Given the description of an element on the screen output the (x, y) to click on. 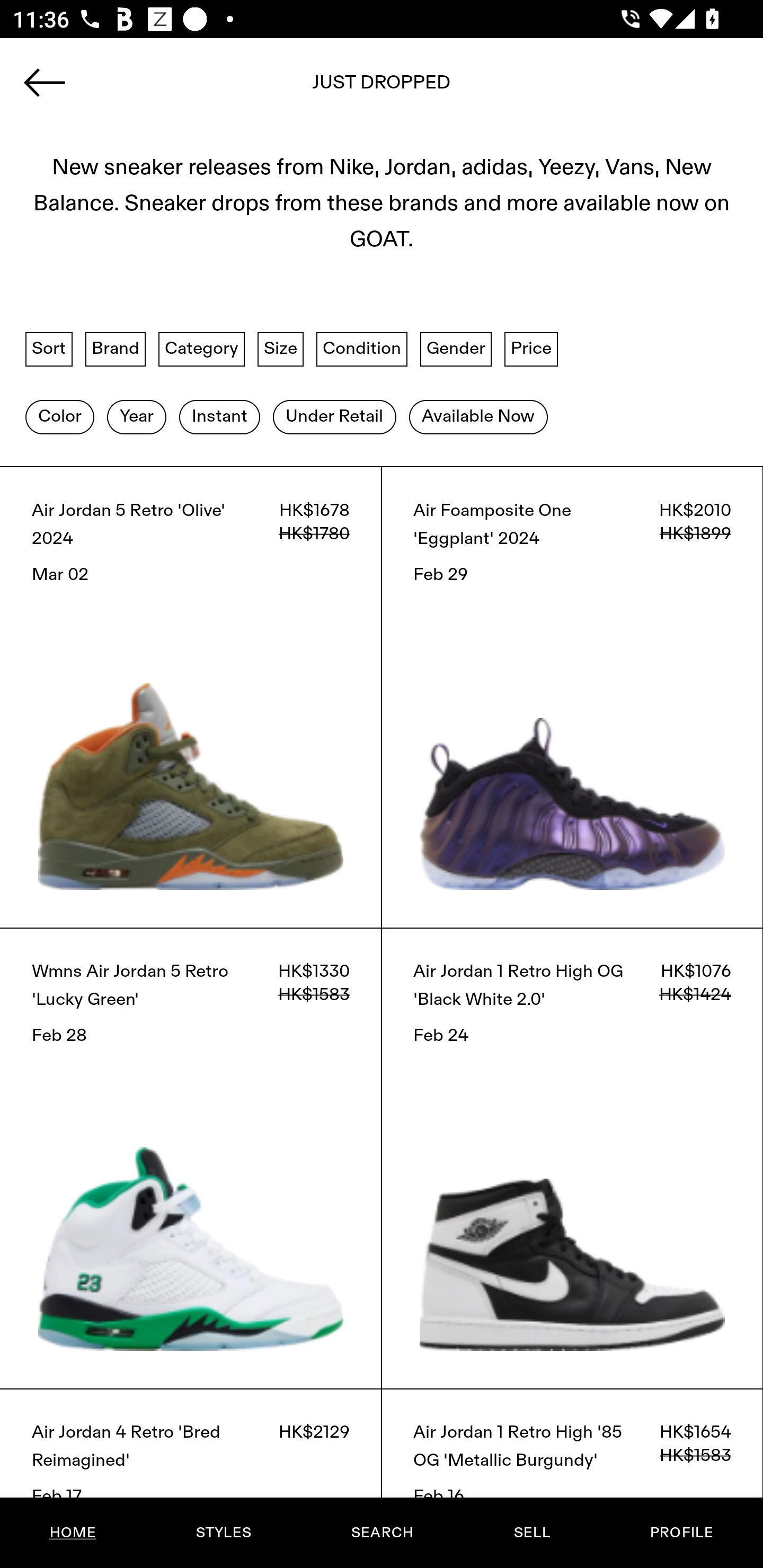
Search (381, 88)
Sort (48, 348)
Brand (115, 348)
Category (201, 348)
Size (280, 348)
Condition (361, 348)
Gender (455, 348)
Price (530, 348)
Color (59, 416)
Year (136, 416)
Instant (219, 416)
Under Retail (334, 416)
Available Now (477, 416)
HOME (72, 1532)
STYLES (222, 1532)
SEARCH (381, 1532)
SELL (531, 1532)
PROFILE (681, 1532)
